Given the description of an element on the screen output the (x, y) to click on. 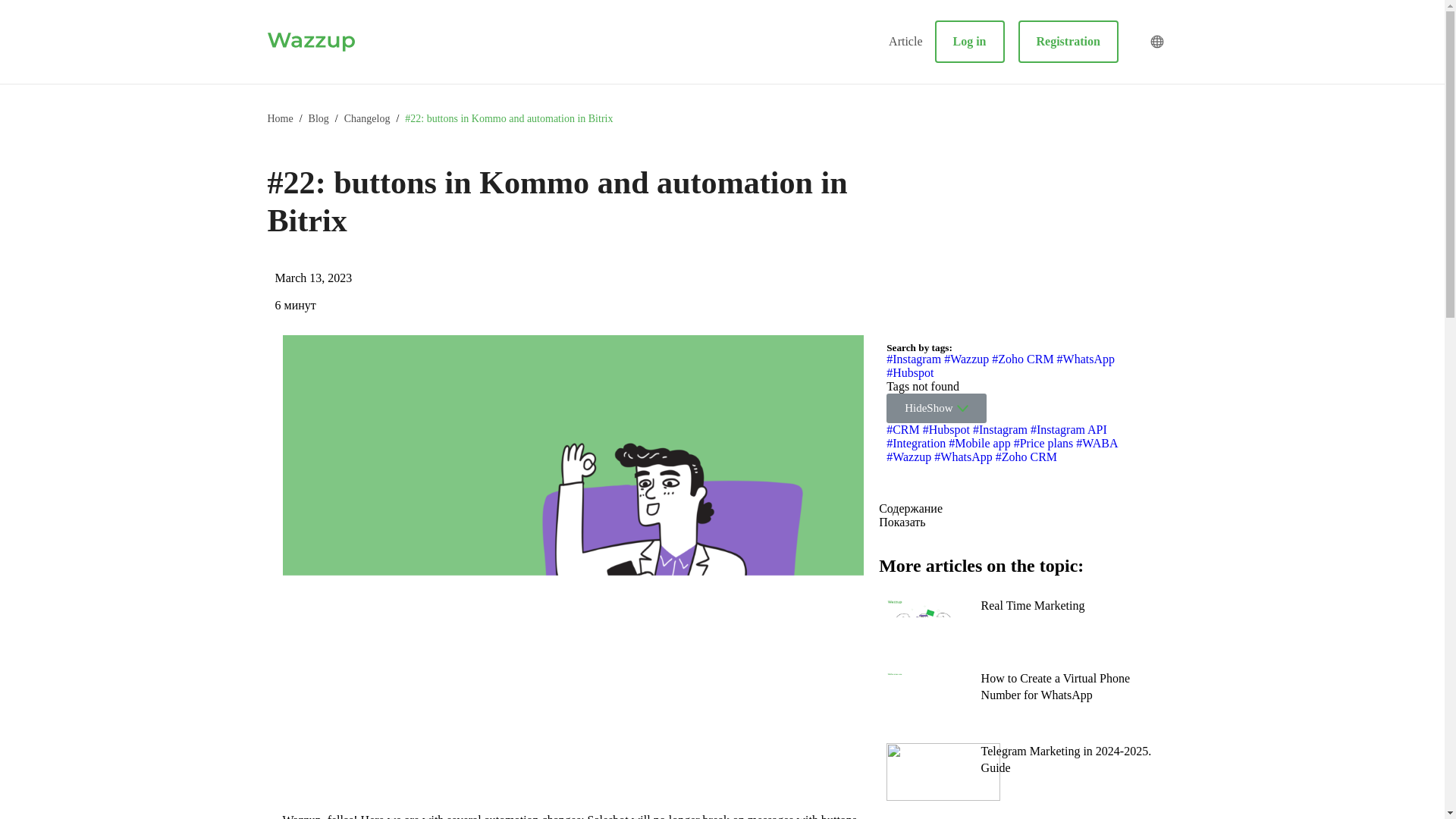
Wazzup (908, 456)
Home (279, 118)
WhatsApp (962, 456)
Blog (318, 118)
Integration (915, 442)
Hubspot (909, 372)
Price plans (1043, 442)
HideShow (935, 408)
Registration (1067, 41)
CRM (903, 429)
